Given the description of an element on the screen output the (x, y) to click on. 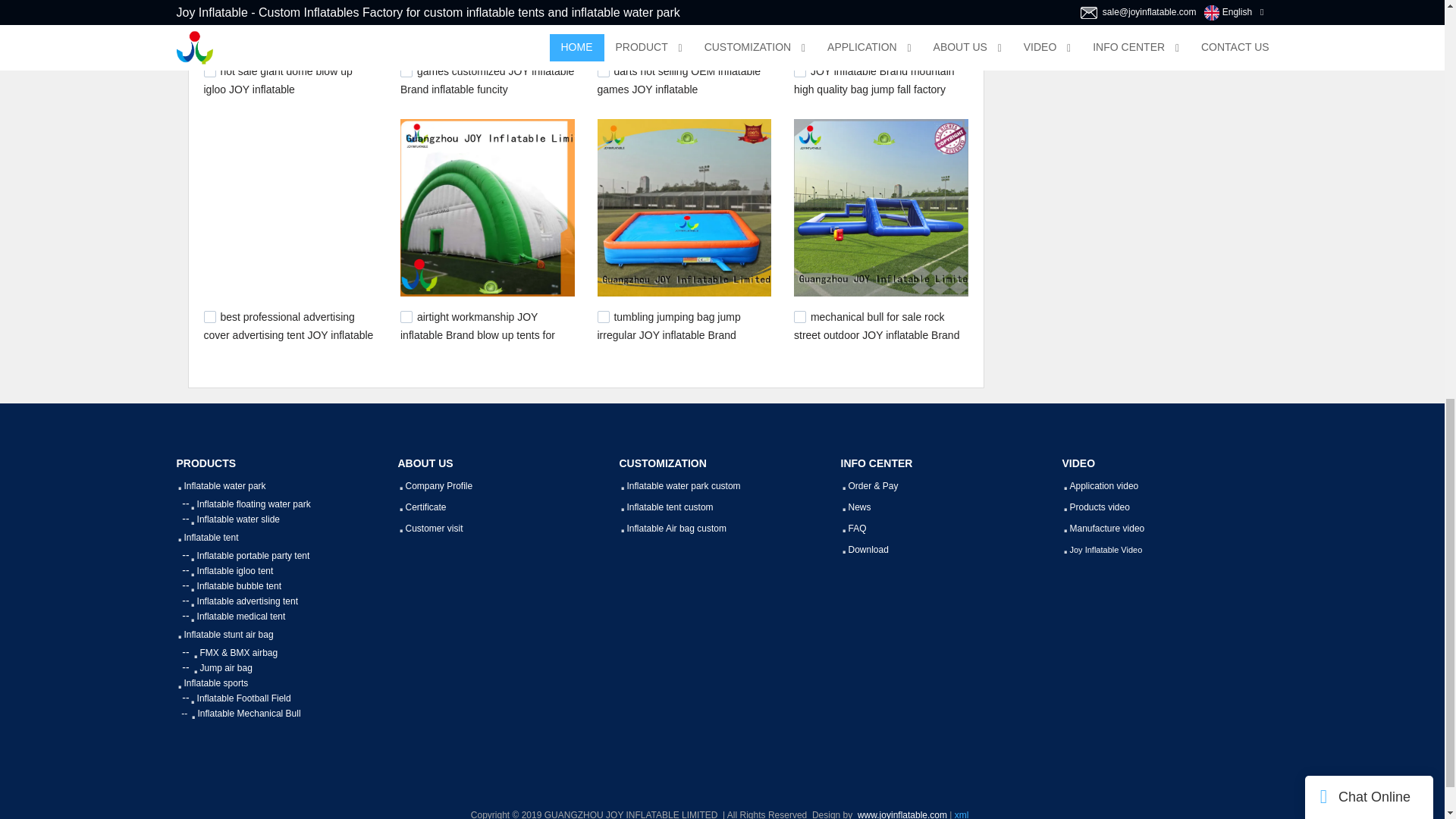
games customized JOY inflatable Brand inflatable funcity (486, 80)
1931 (209, 70)
1148 (799, 316)
1794 (406, 316)
hot sale giant dome blow up igloo JOY inflatable (277, 80)
1259 (603, 316)
